Given the description of an element on the screen output the (x, y) to click on. 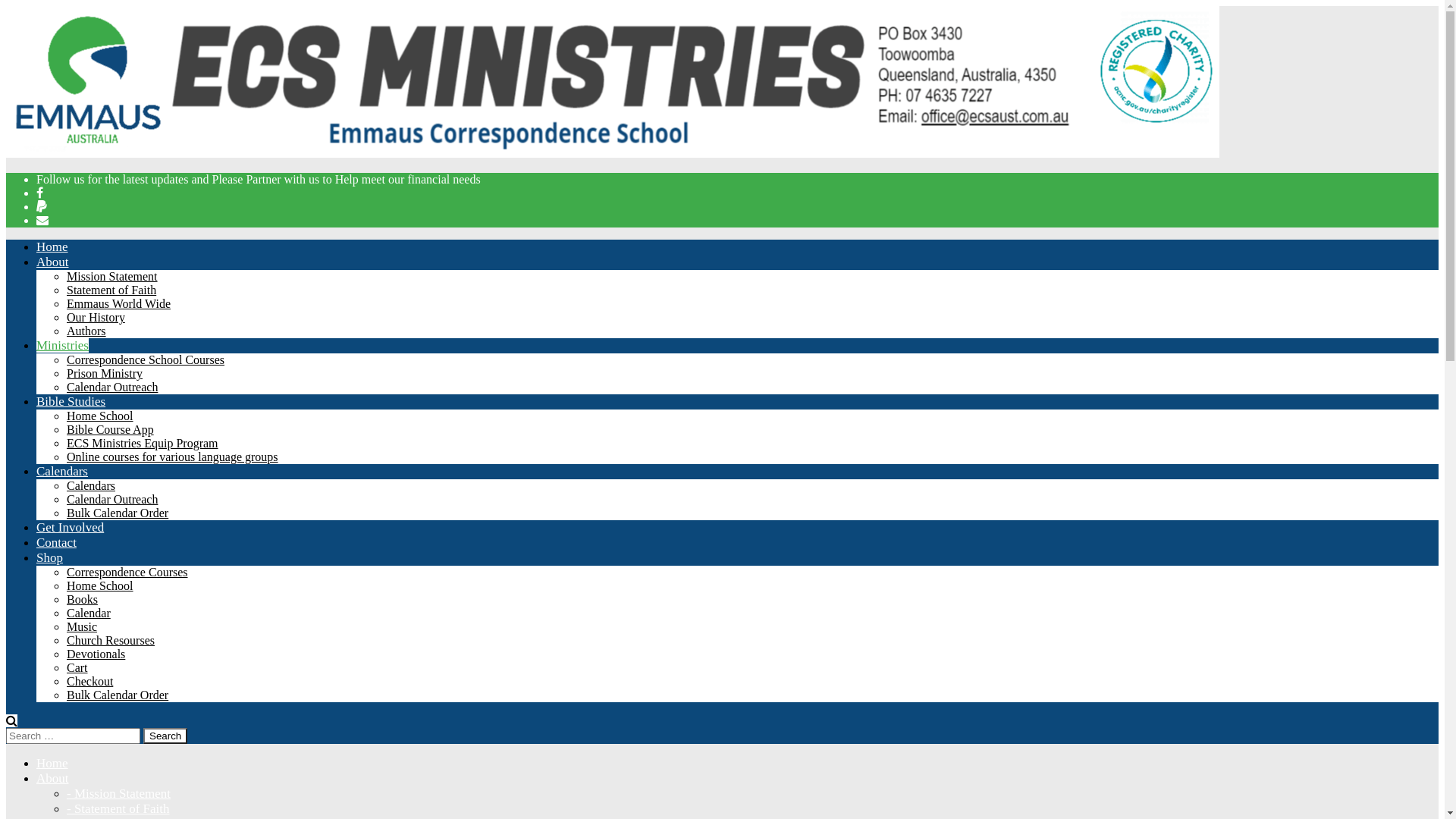
Shop Element type: text (49, 557)
Calendars Element type: text (90, 485)
Contact Element type: text (56, 542)
Authors Element type: text (86, 330)
Books Element type: text (81, 599)
Mission Statement Element type: text (111, 275)
Statement of Faith Element type: text (111, 289)
Emmaus World Wide Element type: text (118, 303)
Calendar Outreach Element type: text (111, 386)
Bulk Calendar Order Element type: text (117, 512)
Home Element type: text (52, 246)
Home School Element type: text (99, 585)
Correspondence Courses Element type: text (127, 571)
Our History Element type: text (95, 316)
Search Element type: text (165, 735)
Devotionals Element type: text (95, 653)
Correspondence School Courses Element type: text (145, 359)
Music Element type: text (81, 626)
Cart Element type: text (76, 667)
About Element type: text (52, 261)
Online courses for various language groups Element type: text (172, 456)
ECS Ministries Equip Program Element type: text (142, 442)
Calendar Outreach Element type: text (111, 498)
Get Involved Element type: text (69, 527)
Church Resourses Element type: text (110, 639)
Ministries Element type: text (62, 345)
- Statement of Faith Element type: text (117, 808)
- Mission Statement Element type: text (118, 793)
Calendar Element type: text (88, 612)
Calendars Element type: text (61, 471)
About Element type: text (52, 778)
Home School Element type: text (99, 415)
Bible Course App Element type: text (109, 429)
Bulk Calendar Order Element type: text (117, 694)
Home Element type: text (52, 763)
Prison Ministry Element type: text (104, 373)
Checkout Element type: text (89, 680)
Bible Studies Element type: text (70, 401)
